Given the description of an element on the screen output the (x, y) to click on. 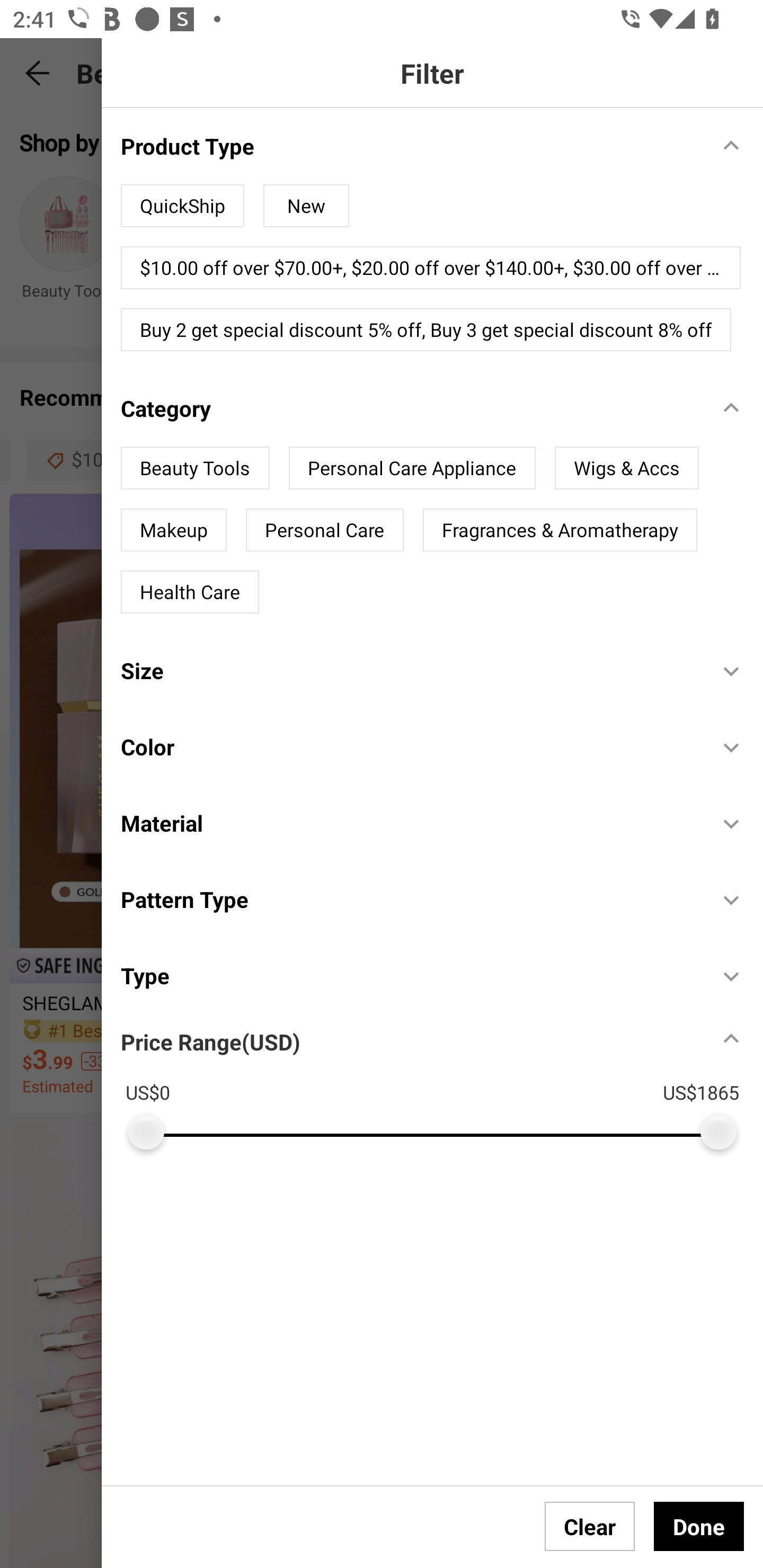
Beauty & Health change view Search Share (419, 72)
Product Type (409, 145)
QuickShip (182, 206)
New (306, 206)
Category (409, 408)
Beauty Tools (194, 467)
Personal Care Appliance (411, 467)
Wigs & Accs (626, 467)
Makeup (173, 529)
Personal Care (324, 529)
Fragrances & Aromatherapy (559, 529)
Health Care (189, 591)
Size (409, 670)
Color (409, 746)
Material (409, 823)
Pattern Type (409, 898)
Type (409, 975)
Price Range(USD) US$0 US$1865 (441, 1081)
Price Range(USD) (210, 1041)
Clear (589, 1526)
Done (698, 1526)
